Given the description of an element on the screen output the (x, y) to click on. 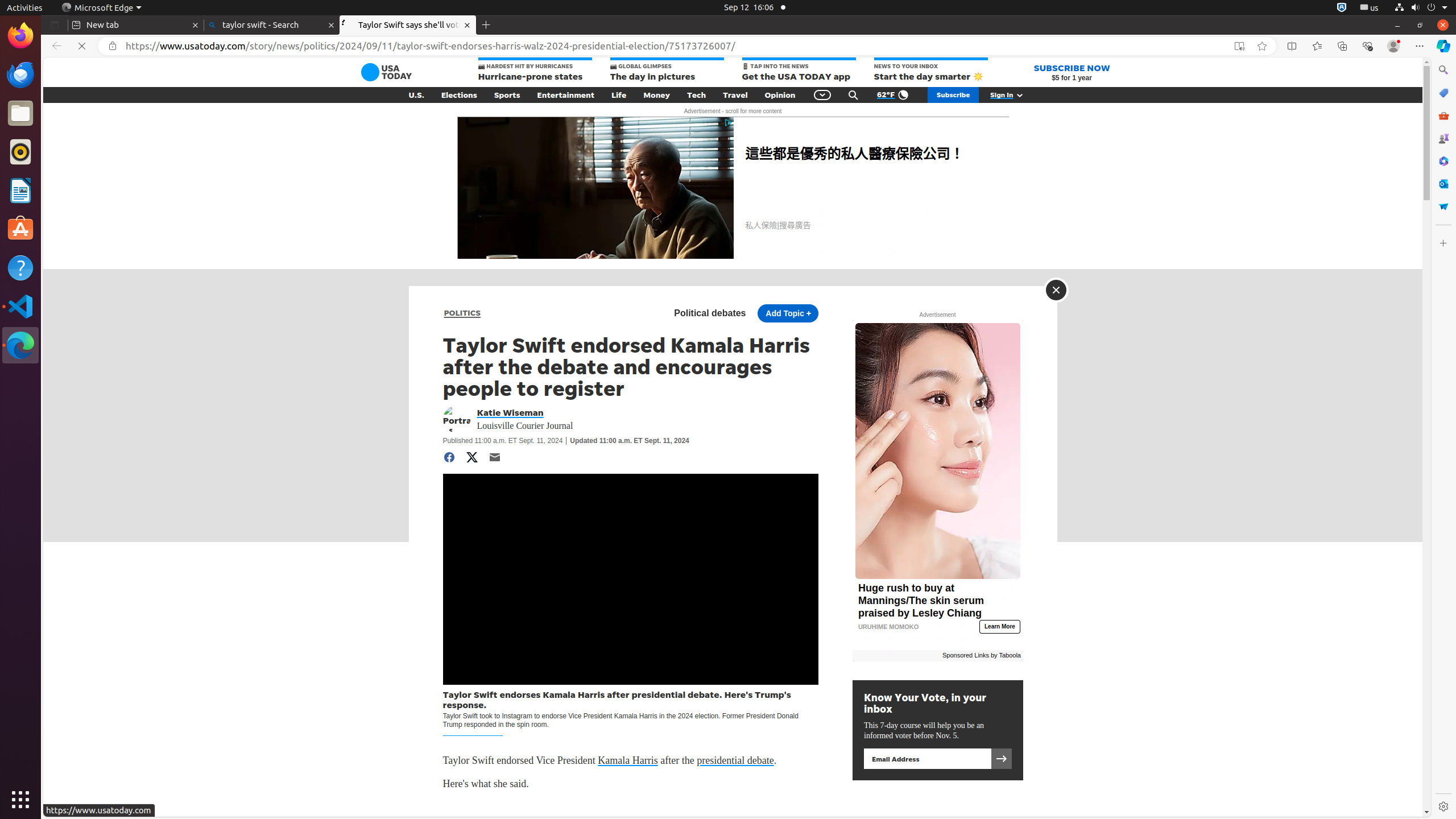
Back Element type: push-button (54, 45)
Elections Element type: link (458, 94)
